Given the description of an element on the screen output the (x, y) to click on. 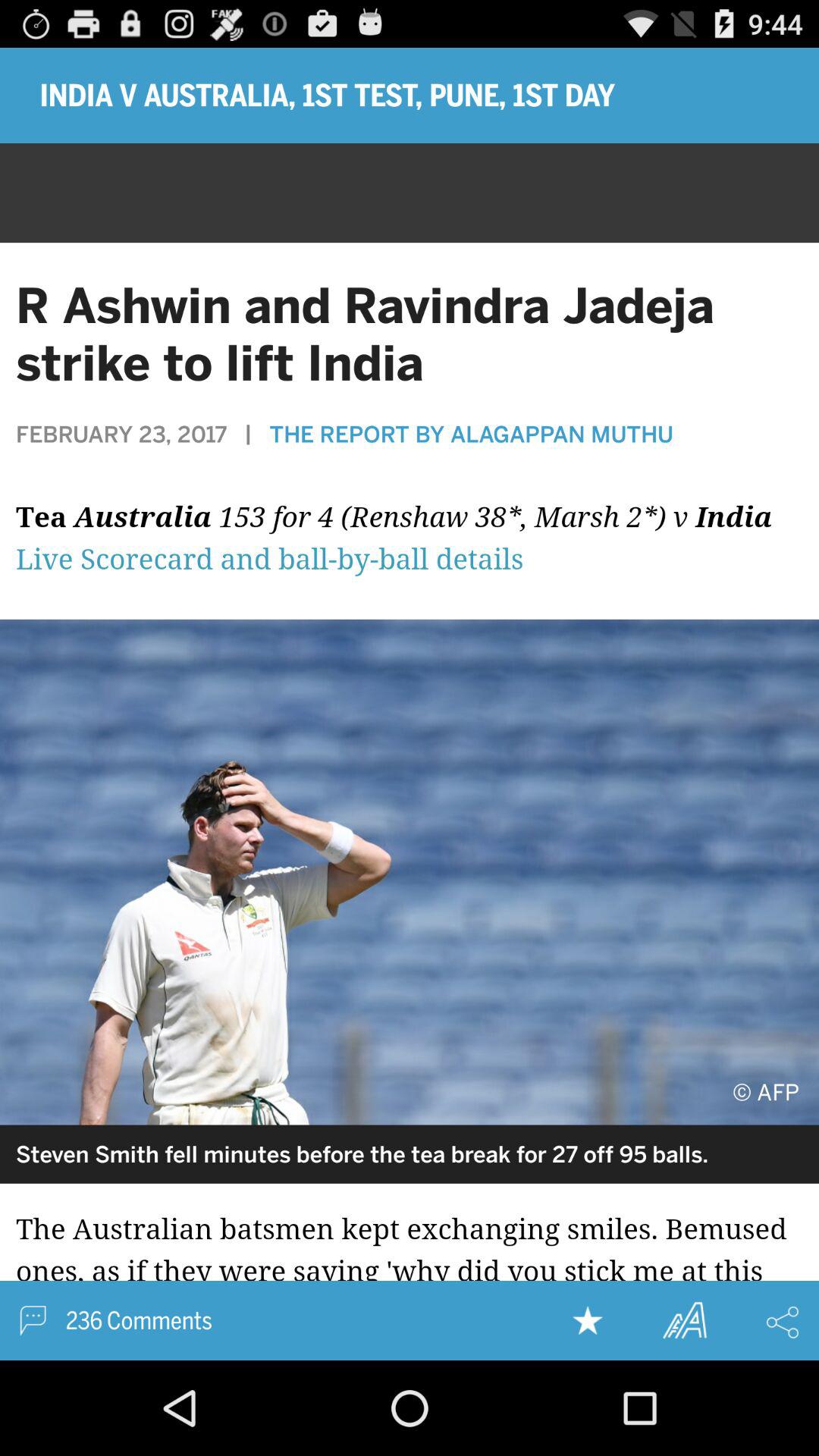
change text size (684, 1319)
